Given the description of an element on the screen output the (x, y) to click on. 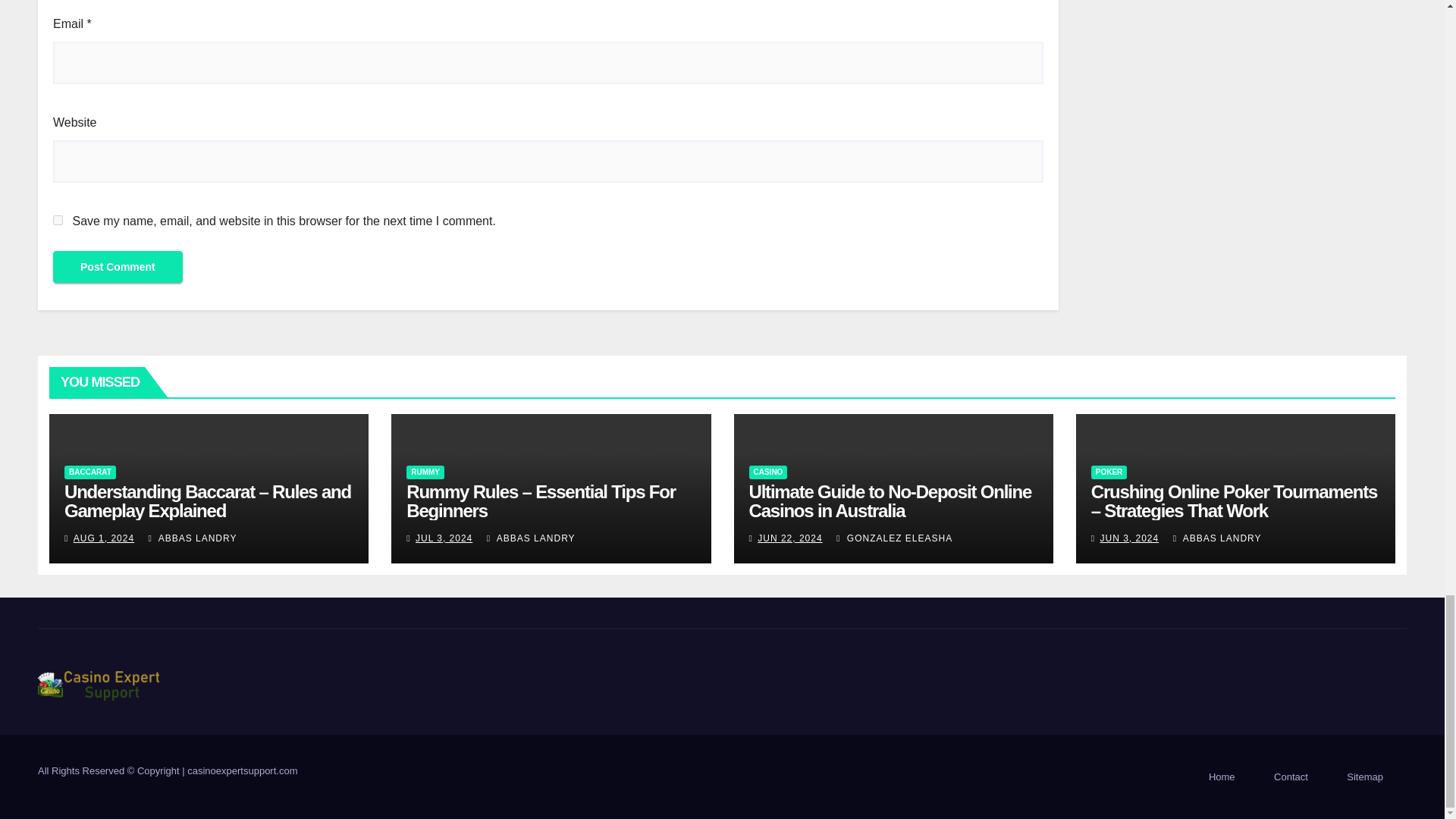
Home (1221, 776)
Sitemap (1364, 776)
Contact (1291, 776)
Post Comment (117, 266)
yes (57, 220)
Post Comment (117, 266)
